Given the description of an element on the screen output the (x, y) to click on. 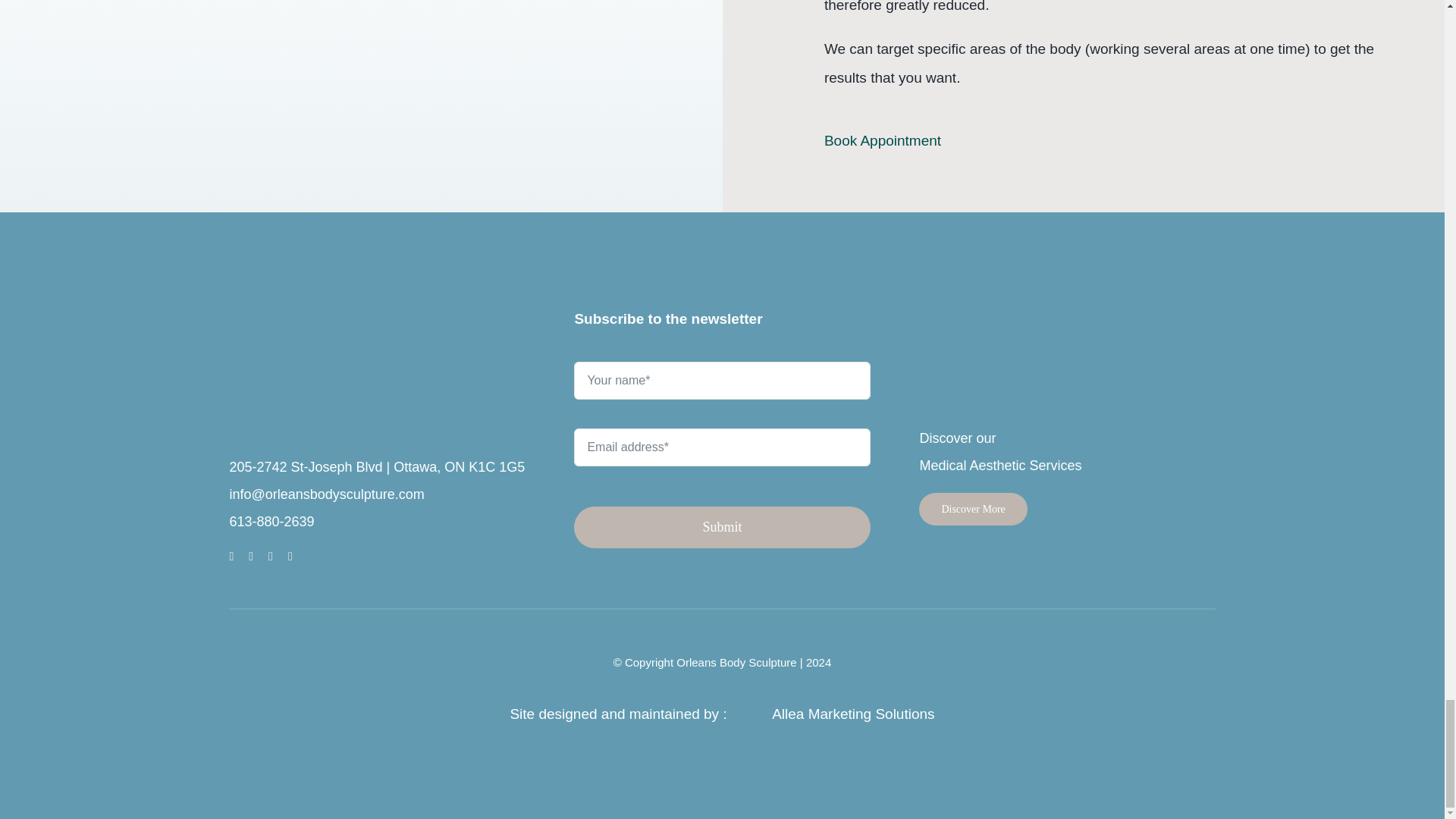
X (250, 556)
Instagram (270, 556)
LinkedIn (290, 556)
Facebook (230, 556)
Submit (721, 454)
